Given the description of an element on the screen output the (x, y) to click on. 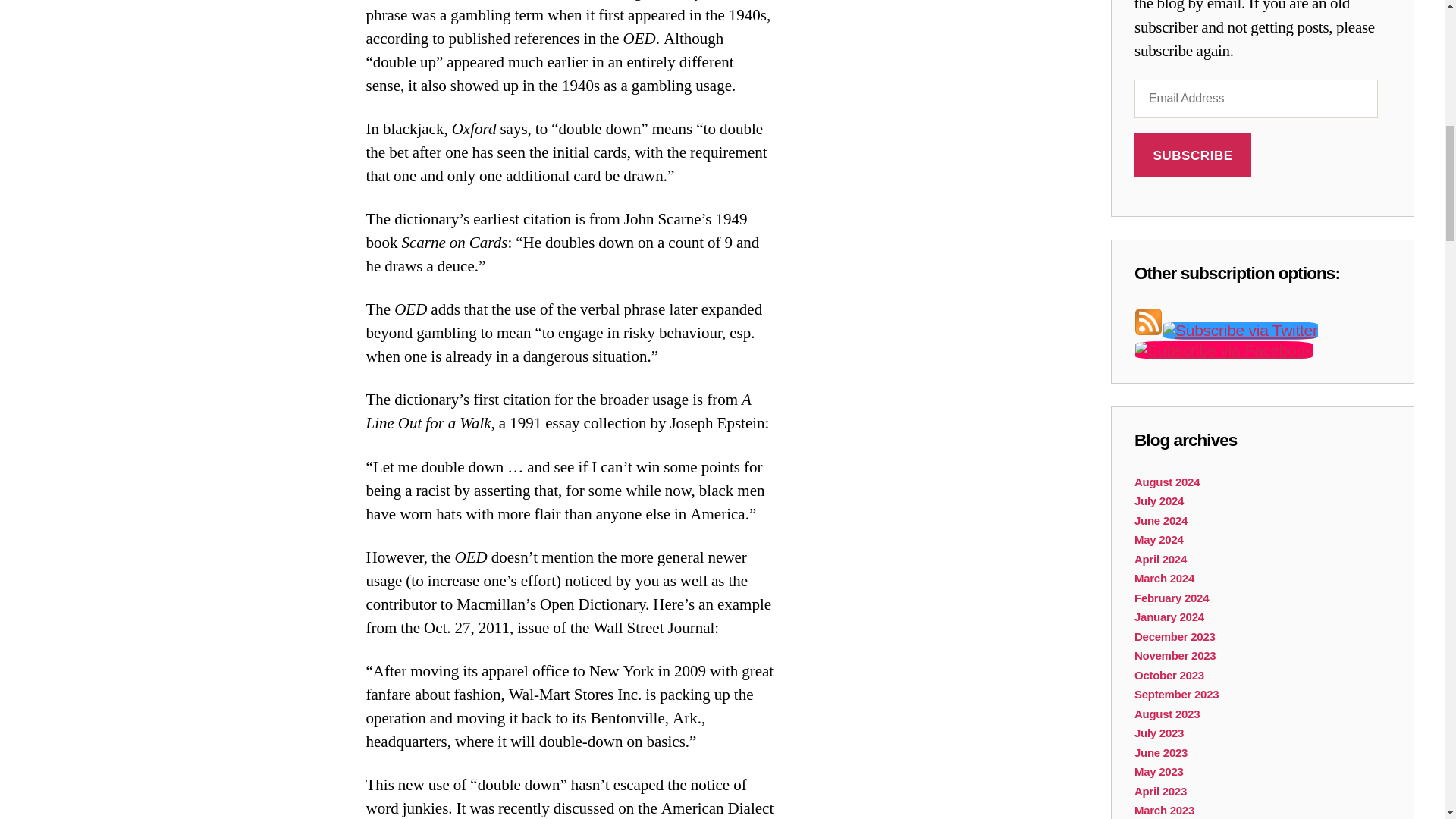
Subscribe via Facebook (1223, 349)
Subscribe via RSS (1147, 330)
Subscribe via Twitter (1240, 330)
